Given the description of an element on the screen output the (x, y) to click on. 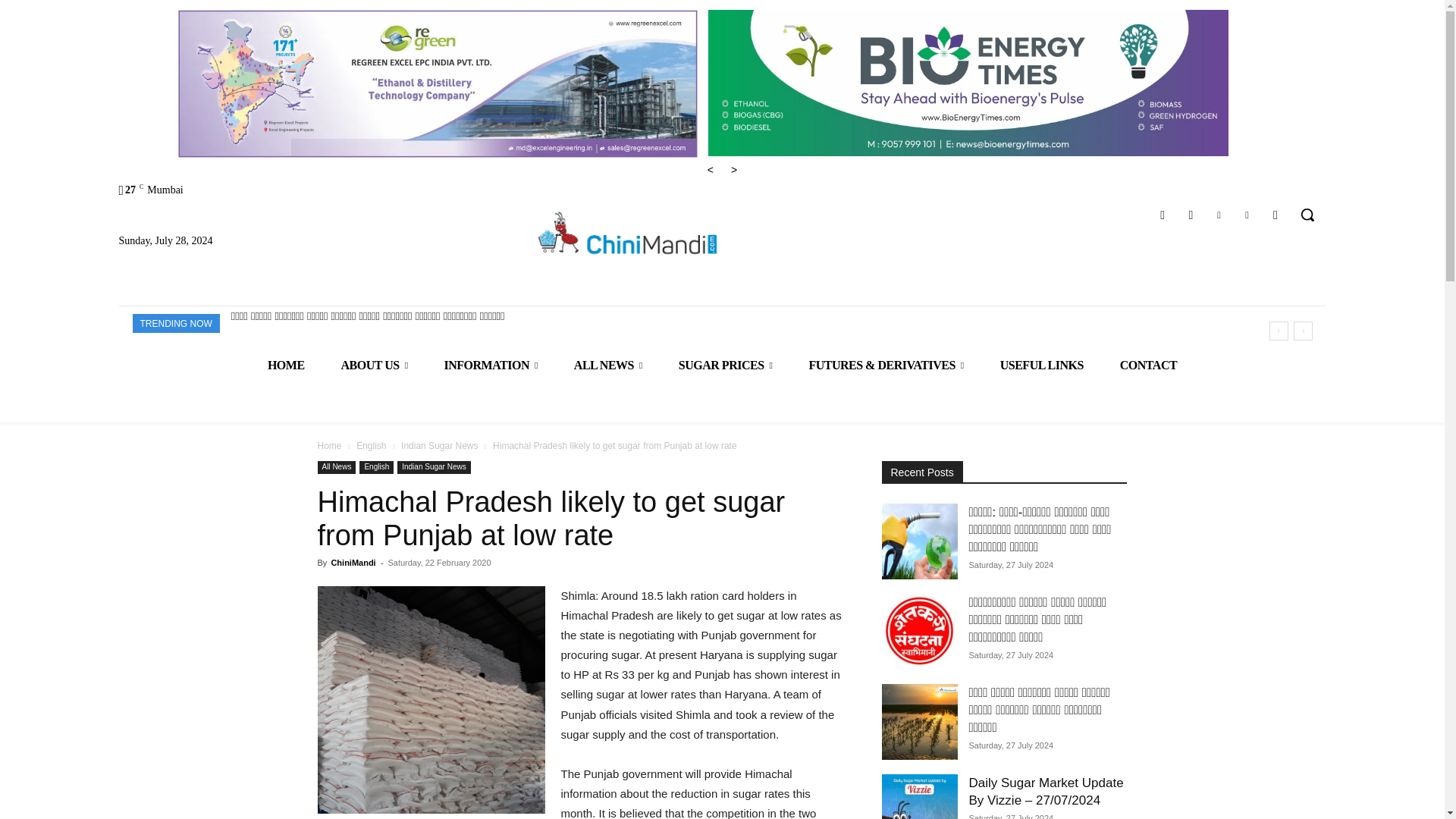
Youtube (1275, 214)
Instagram (1190, 214)
Facebook (1163, 214)
Twitter (1246, 214)
Linkedin (1218, 214)
